Given the description of an element on the screen output the (x, y) to click on. 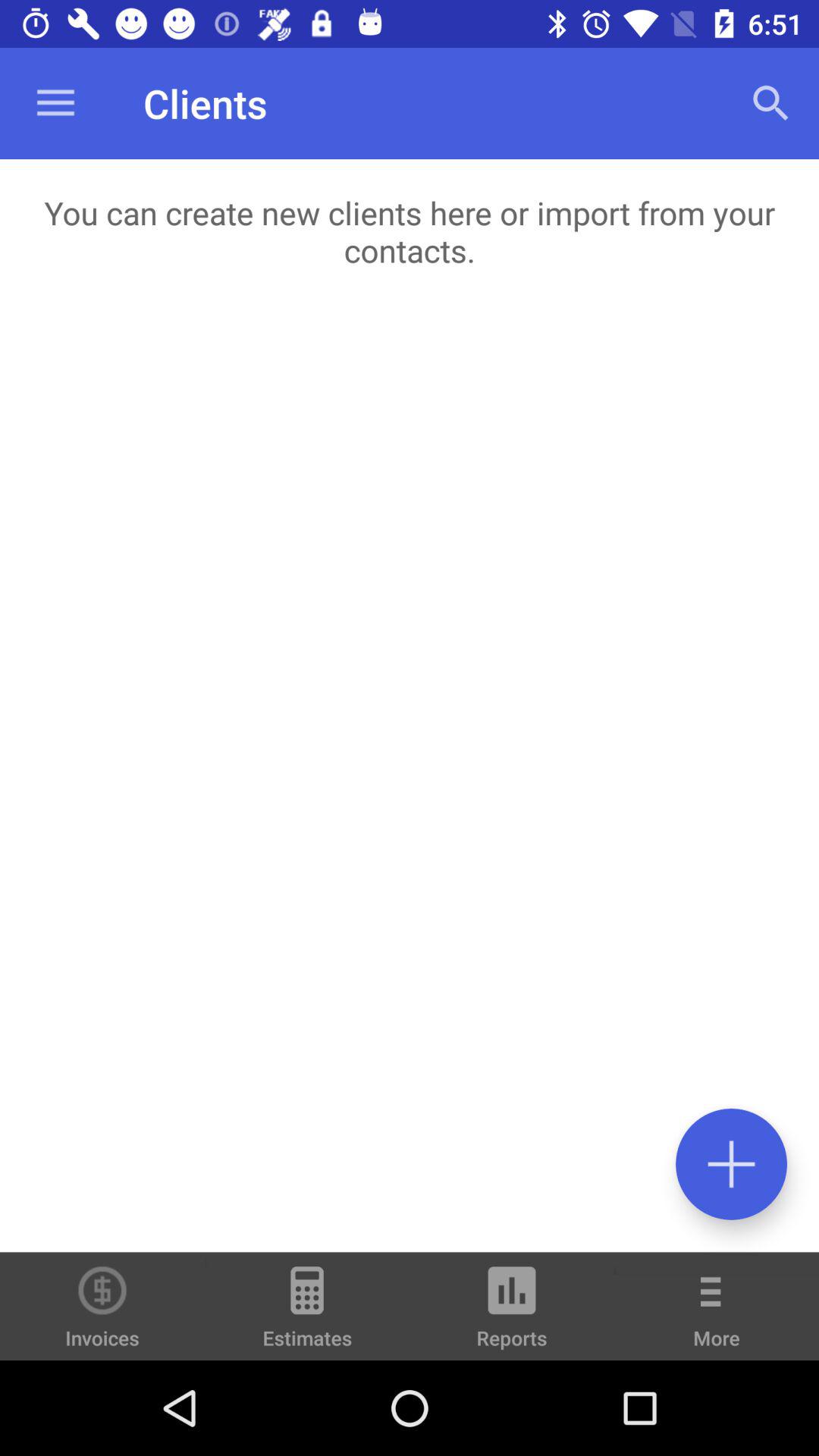
turn off the icon next to the invoices item (306, 1313)
